Given the description of an element on the screen output the (x, y) to click on. 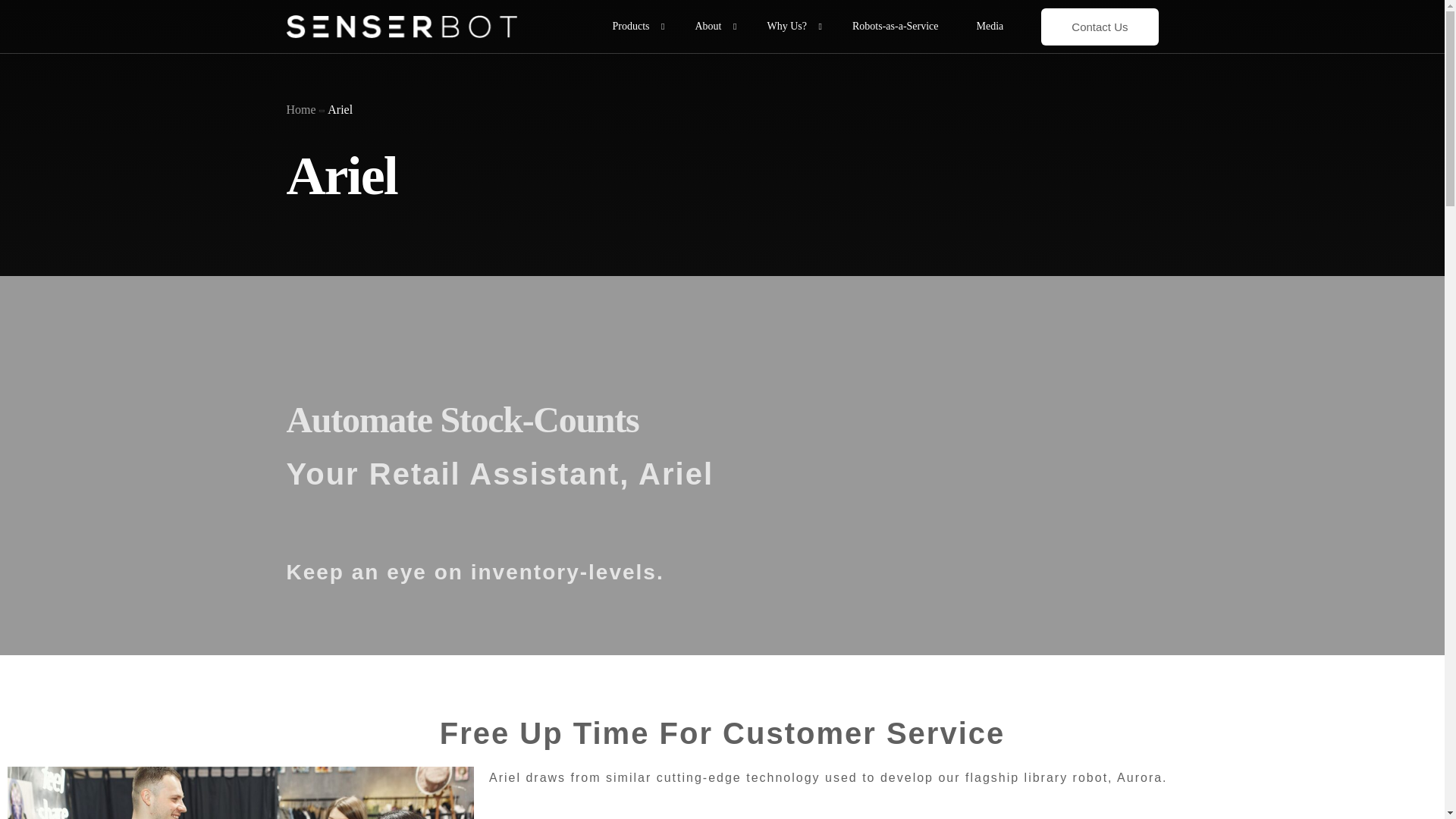
Media (990, 26)
Robots-as-a-Service (895, 26)
Contact Us (1099, 26)
Home (300, 114)
